Given the description of an element on the screen output the (x, y) to click on. 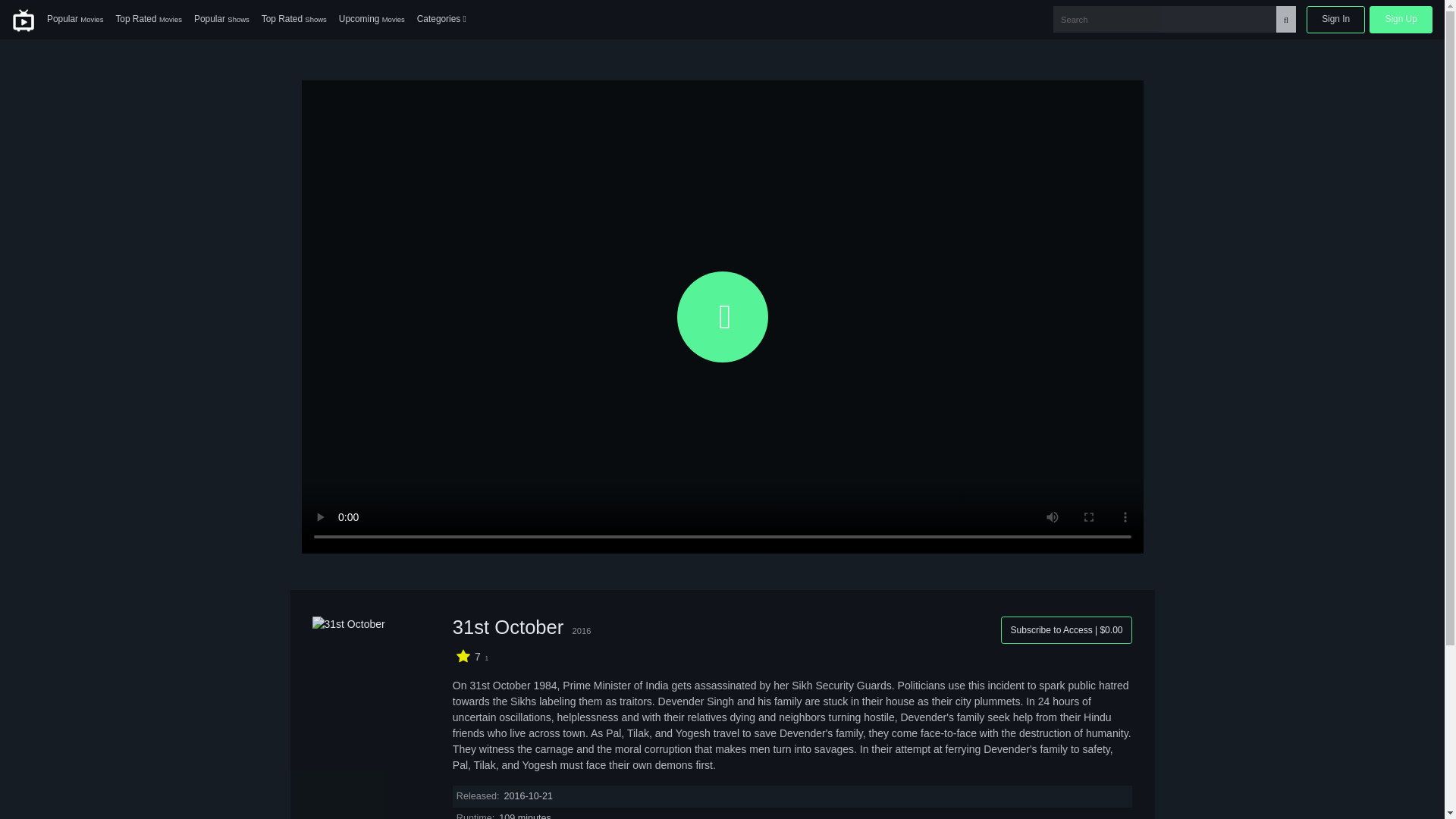
Upcoming Movies (371, 19)
Popular Shows (221, 19)
Top Rated Shows (294, 19)
Top Rated Movies (148, 19)
Categories (440, 19)
Popular Movies (74, 19)
